Given the description of an element on the screen output the (x, y) to click on. 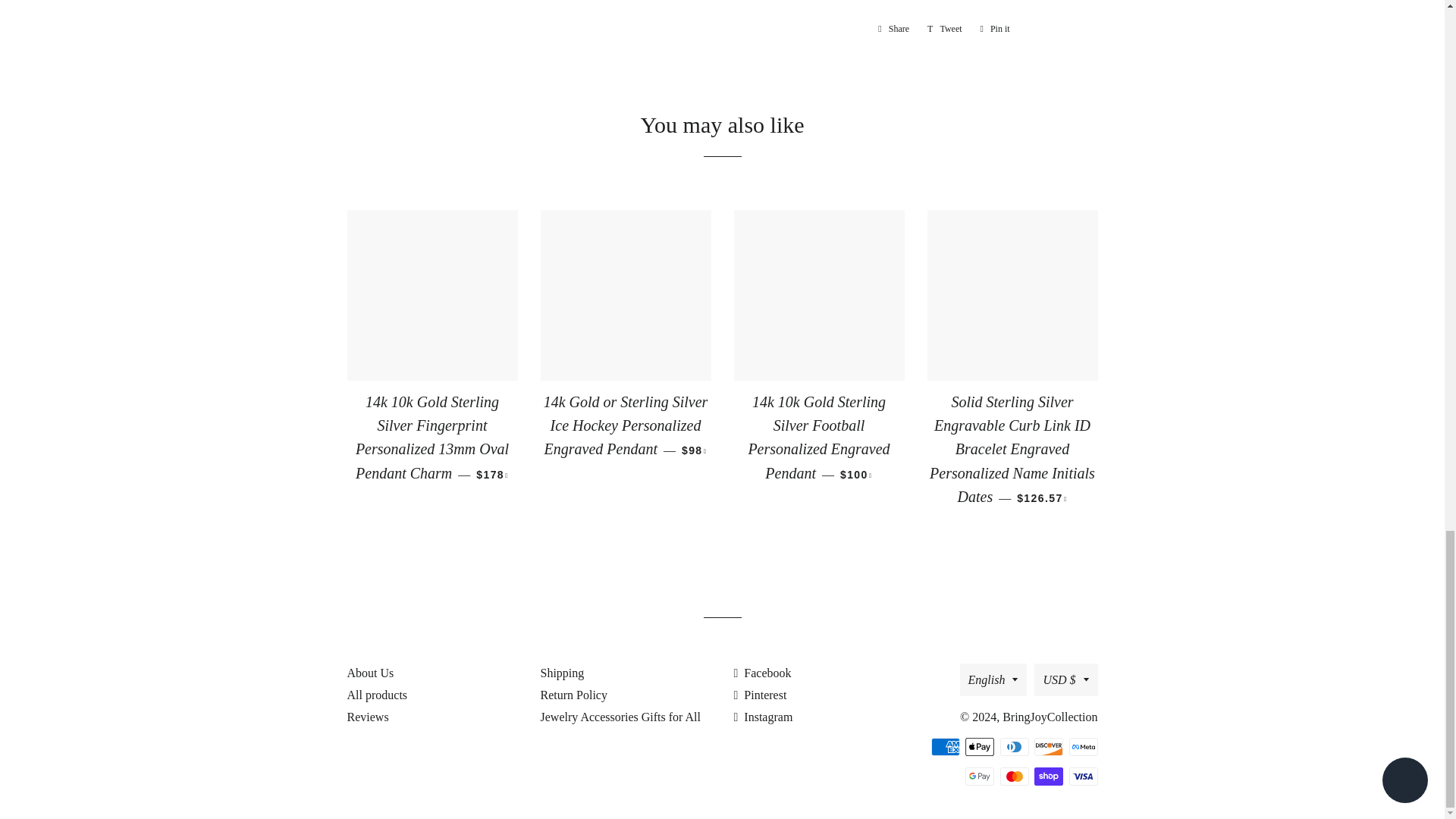
Mastercard (1012, 776)
Google Pay (944, 28)
Share on Facebook (893, 28)
BringJoyCollection on Pinterest (979, 776)
Meta Pay (893, 28)
About Us (760, 694)
American Express (1082, 746)
BringJoyCollection on Instagram (370, 672)
